Given the description of an element on the screen output the (x, y) to click on. 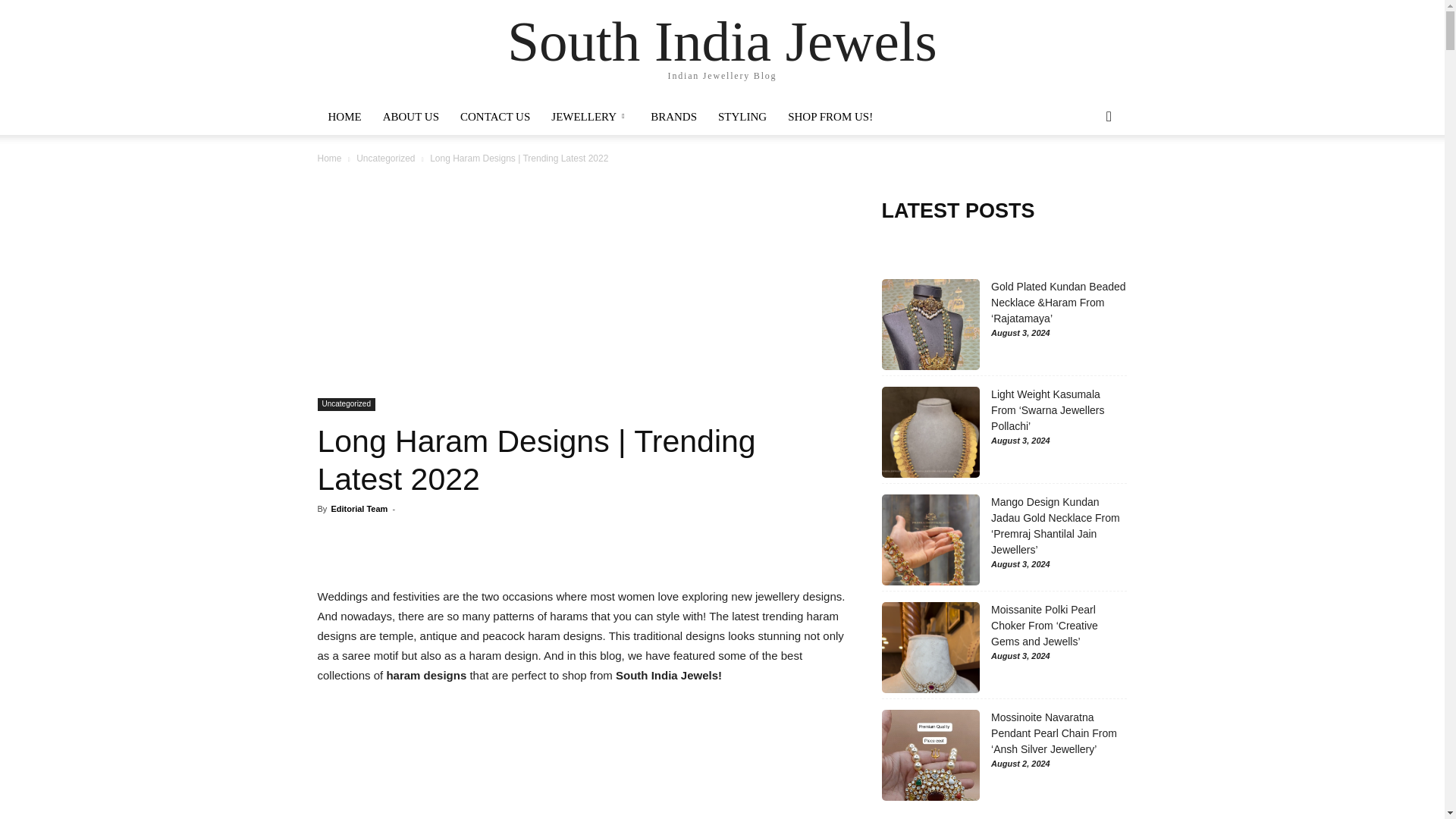
JEWELLERY (590, 116)
STYLING (742, 116)
Home (328, 158)
ABOUT US (410, 116)
Uncategorized (385, 158)
Uncategorized (345, 404)
Search (1085, 177)
South India Jewels (721, 41)
Advertisement (580, 285)
Editorial Team (358, 508)
Advertisement (580, 762)
View all posts in Uncategorized (385, 158)
SHOP FROM US! (830, 116)
CONTACT US (494, 116)
HOME (344, 116)
